Given the description of an element on the screen output the (x, y) to click on. 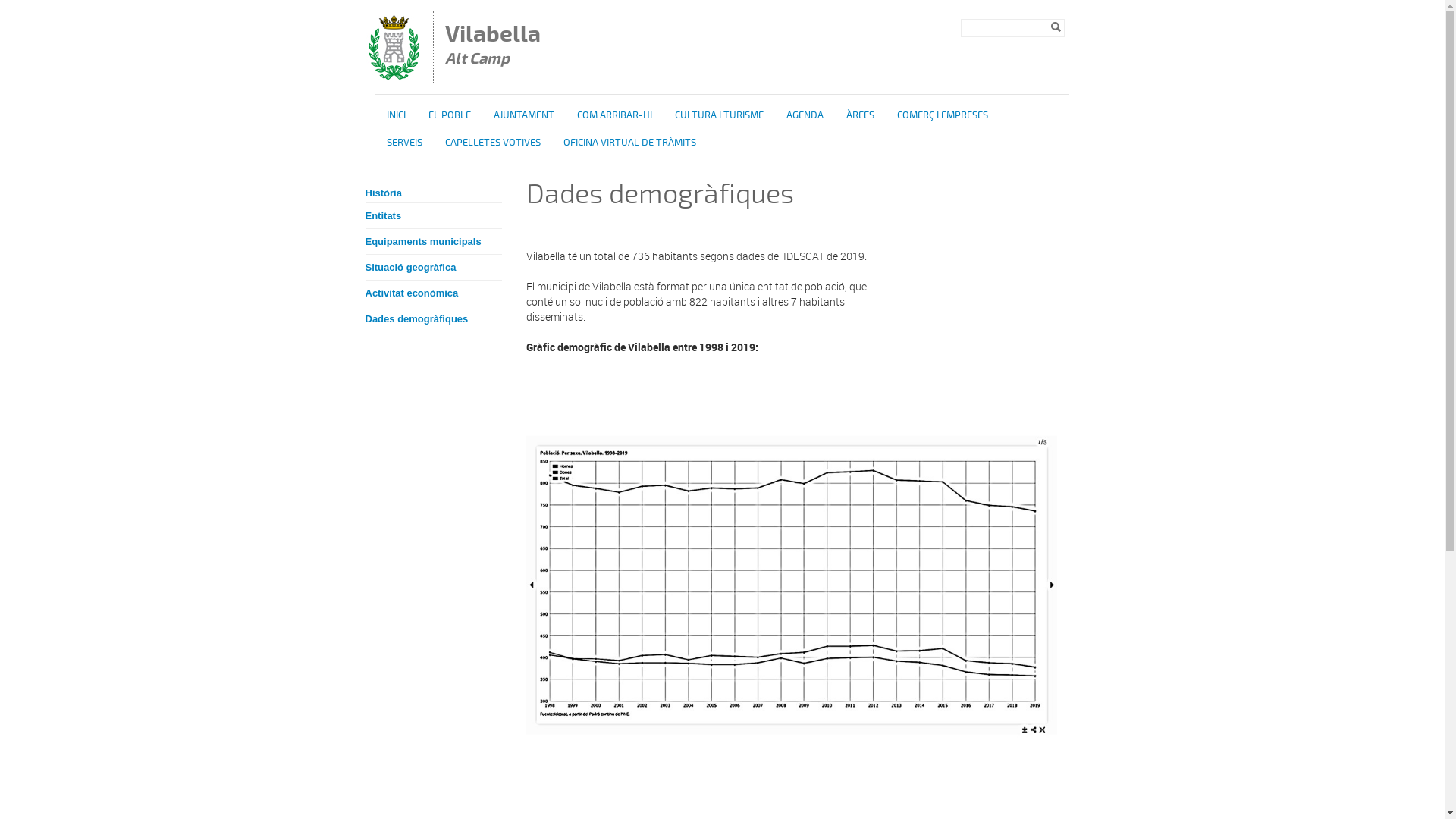
Inici Element type: hover (393, 75)
CULTURA I TURISME Element type: text (718, 115)
Equipaments municipals Element type: text (433, 241)
AJUNTAMENT Element type: text (523, 115)
INICI Element type: text (395, 115)
SERVEIS Element type: text (404, 142)
Entitats Element type: text (433, 216)
AGENDA Element type: text (804, 115)
CAPELLETES VOTIVES Element type: text (492, 142)
COM ARRIBAR-HI Element type: text (614, 115)
EL POBLE Element type: text (449, 115)
Vilabella
Alt Camp Element type: text (495, 46)
